Given the description of an element on the screen output the (x, y) to click on. 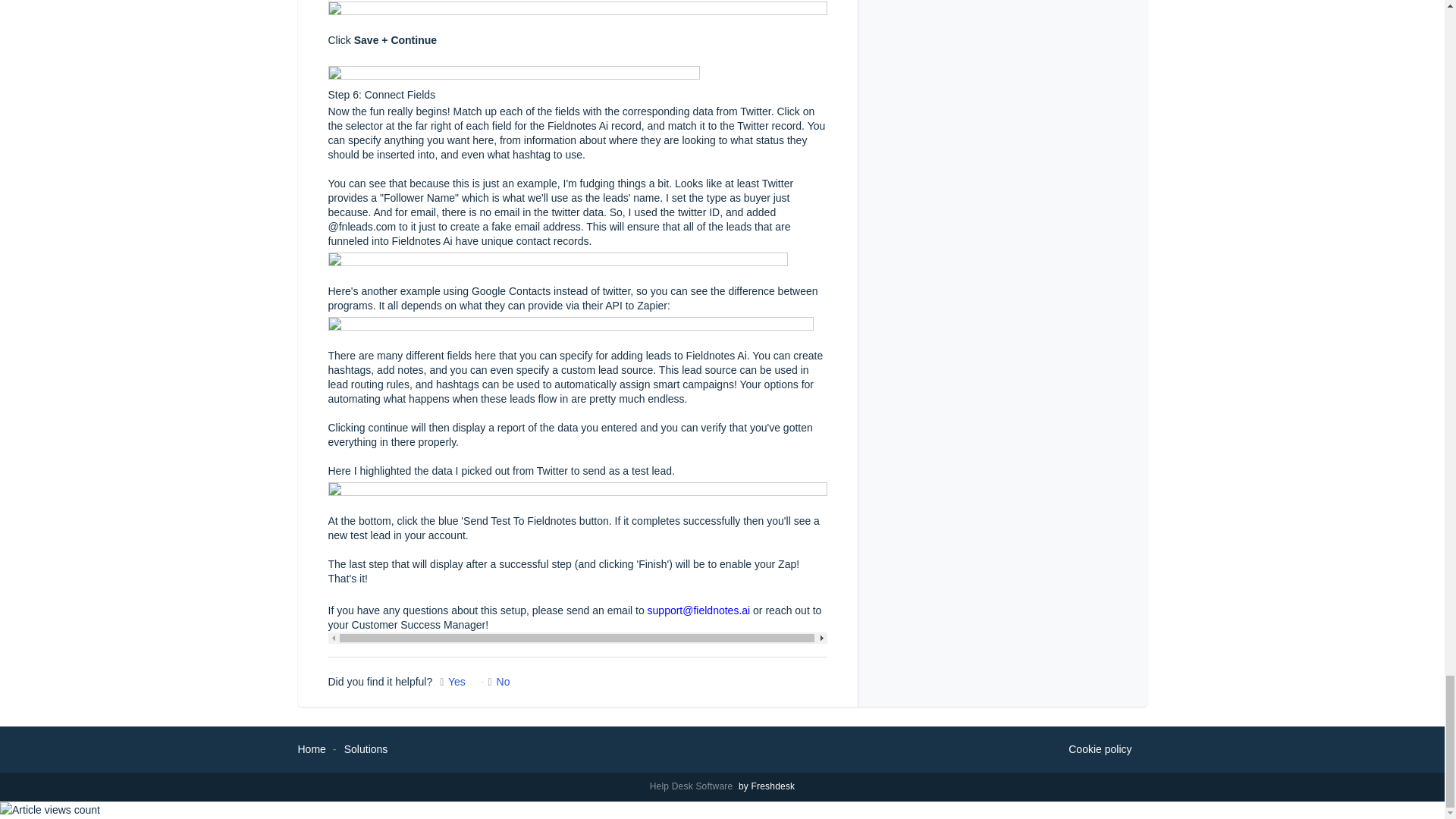
Cookie policy (1099, 750)
Why we love Cookies (1099, 750)
Home (310, 748)
Solutions (365, 748)
